Given the description of an element on the screen output the (x, y) to click on. 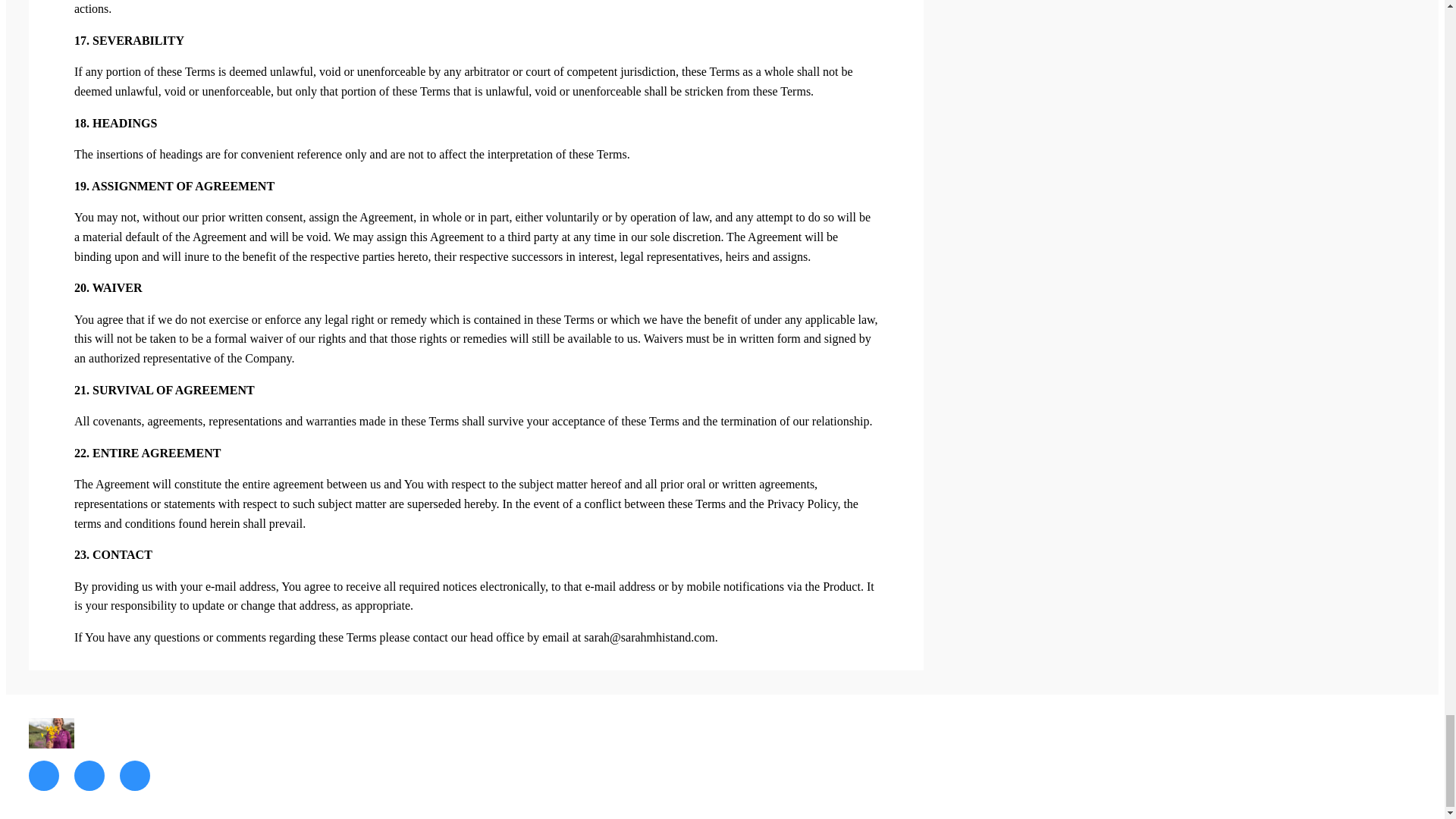
Terms (852, 733)
Privacy (904, 733)
